Given the description of an element on the screen output the (x, y) to click on. 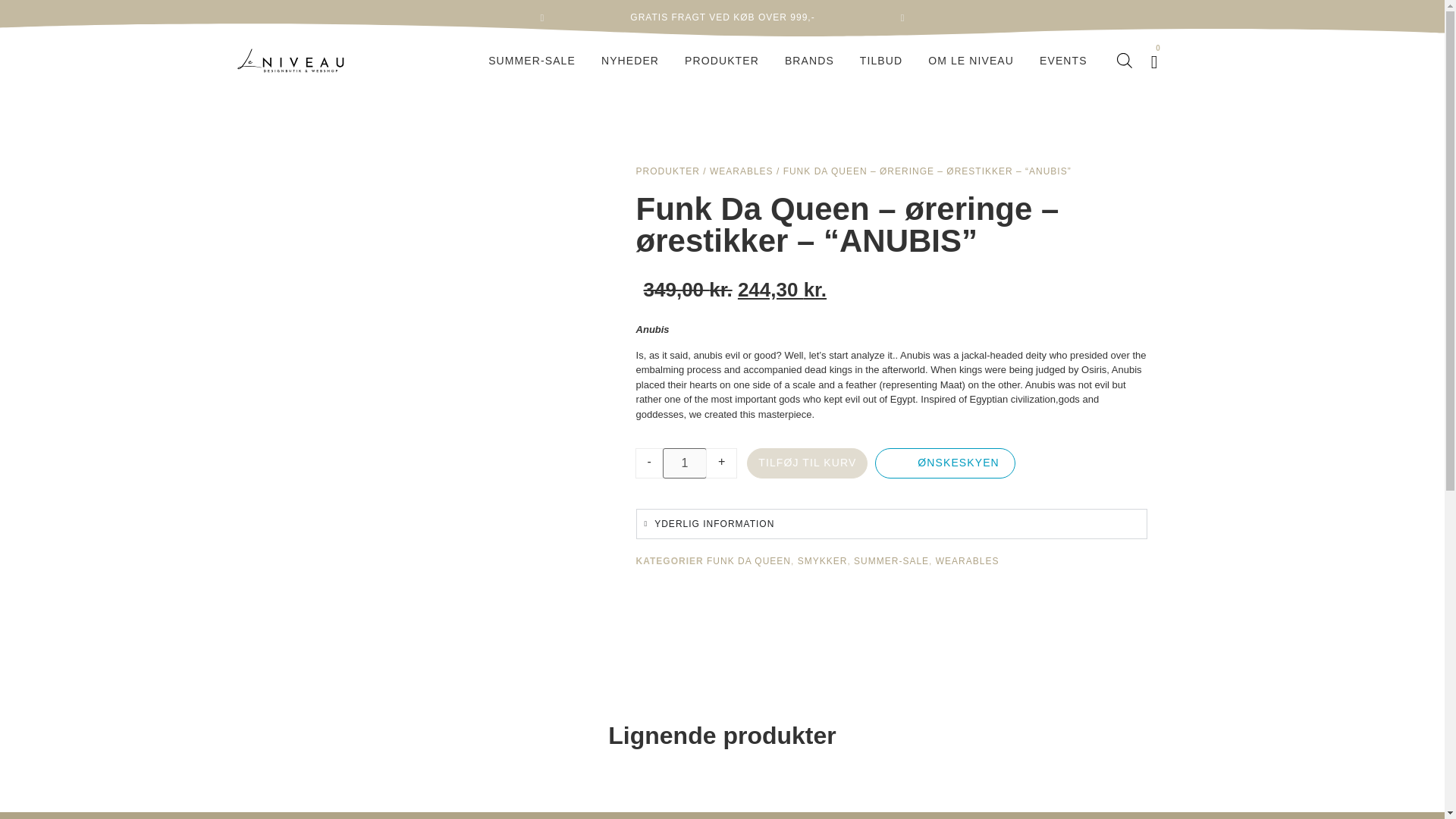
PRODUKTER (722, 60)
1 (684, 462)
BRANDS (809, 60)
NYHEDER (629, 60)
SUMMER-SALE (531, 60)
